Given the description of an element on the screen output the (x, y) to click on. 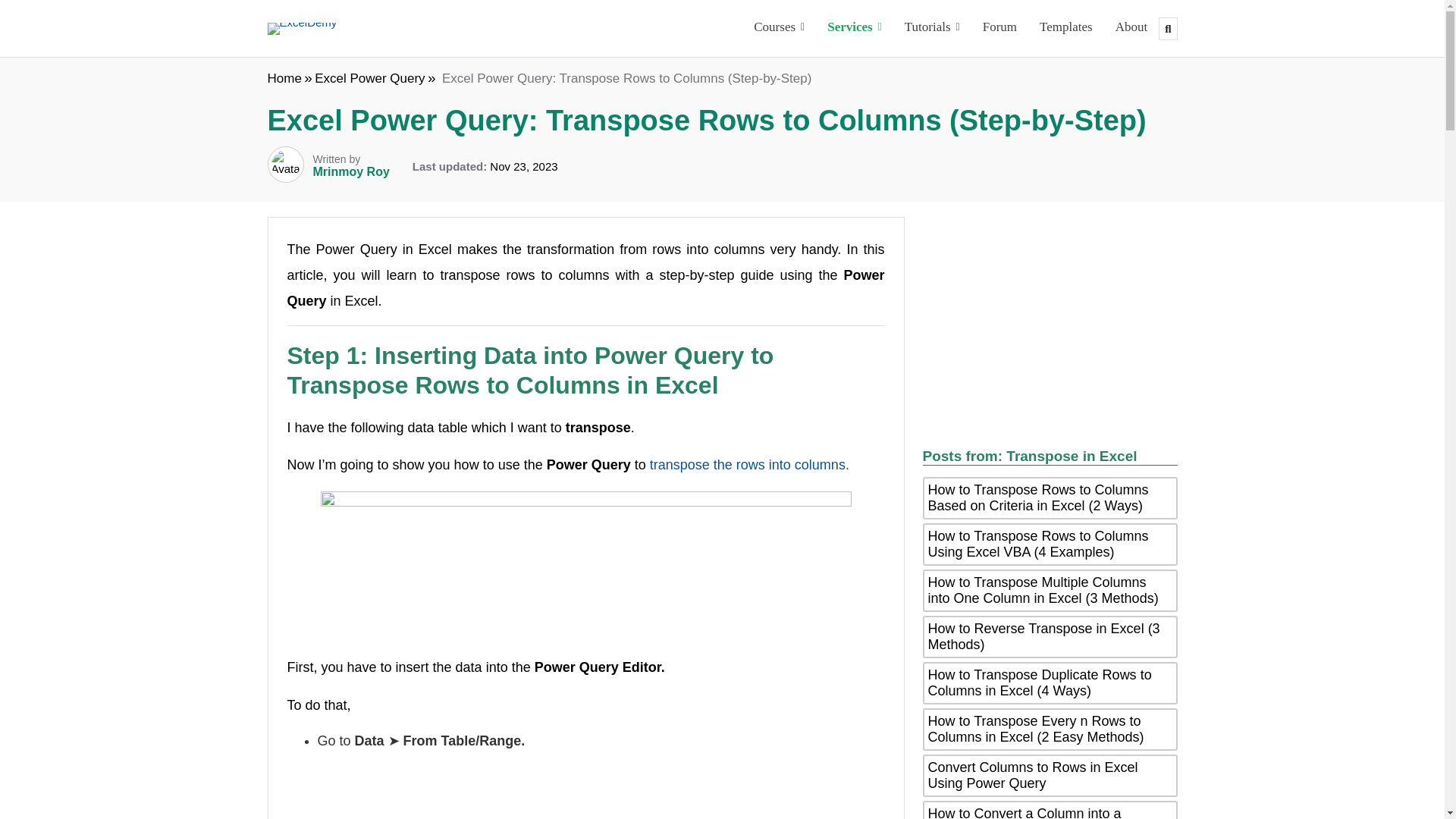
transpose the rows into columns. (748, 464)
Home (283, 78)
Tutorials (932, 28)
Courses (778, 28)
Mrinmoy Roy (350, 171)
Forum (999, 28)
About (1130, 28)
Services (854, 28)
Templates (1065, 28)
Excel Power Query (369, 78)
